Given the description of an element on the screen output the (x, y) to click on. 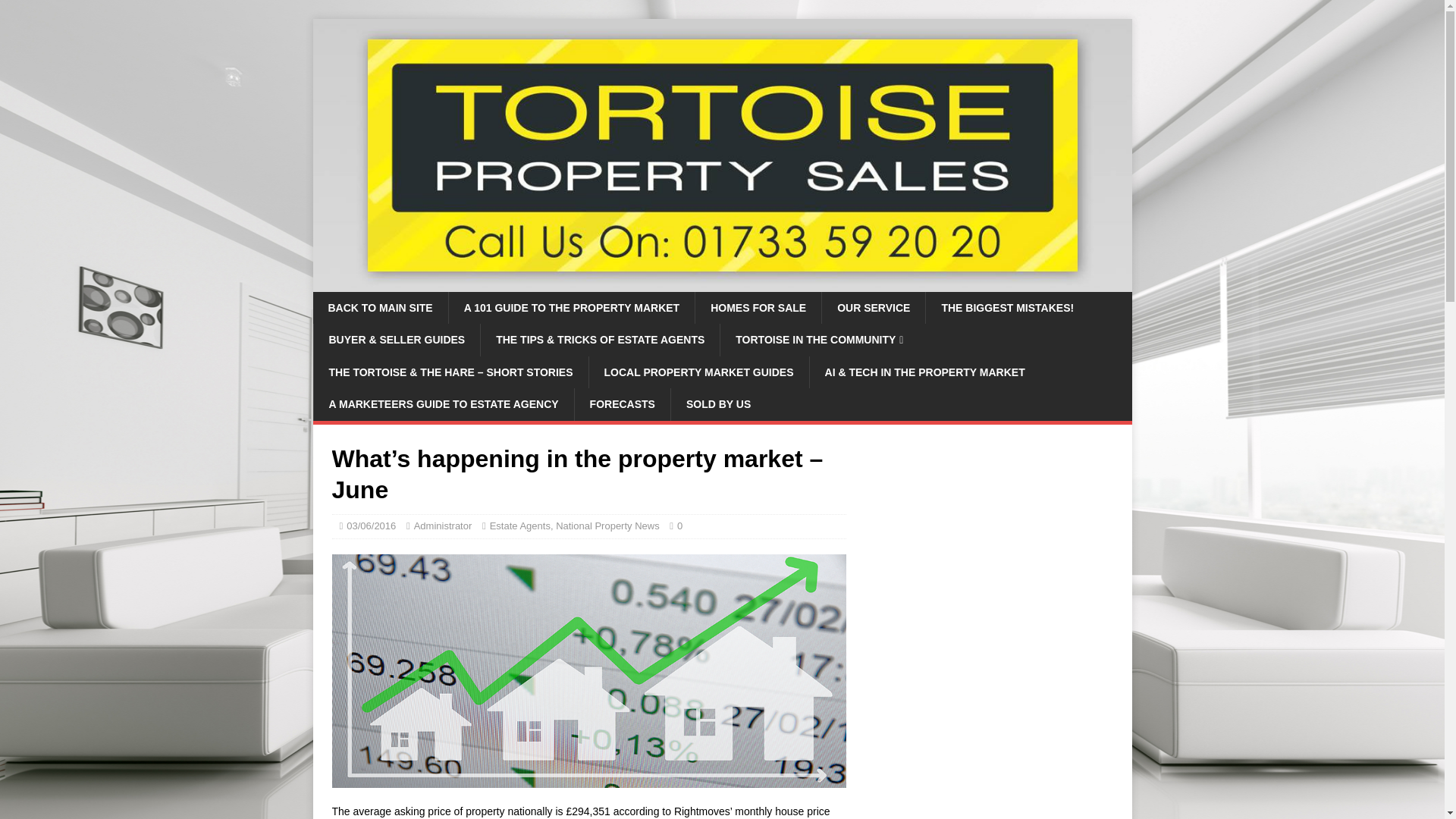
Housing-Market-Uptrend (588, 670)
Estate Agents (519, 525)
SOLD BY US (717, 404)
Administrator (442, 525)
A 101 GUIDE TO THE PROPERTY MARKET (571, 307)
National Property News (607, 525)
FORECASTS (621, 404)
BACK TO MAIN SITE (379, 307)
TORTOISE IN THE COMMUNITY (818, 339)
HOMES FOR SALE (757, 307)
A MARKETEERS GUIDE TO ESTATE AGENCY (443, 404)
OUR SERVICE (872, 307)
LOCAL PROPERTY MARKET GUIDES (698, 372)
THE BIGGEST MISTAKES! (1006, 307)
